Given the description of an element on the screen output the (x, y) to click on. 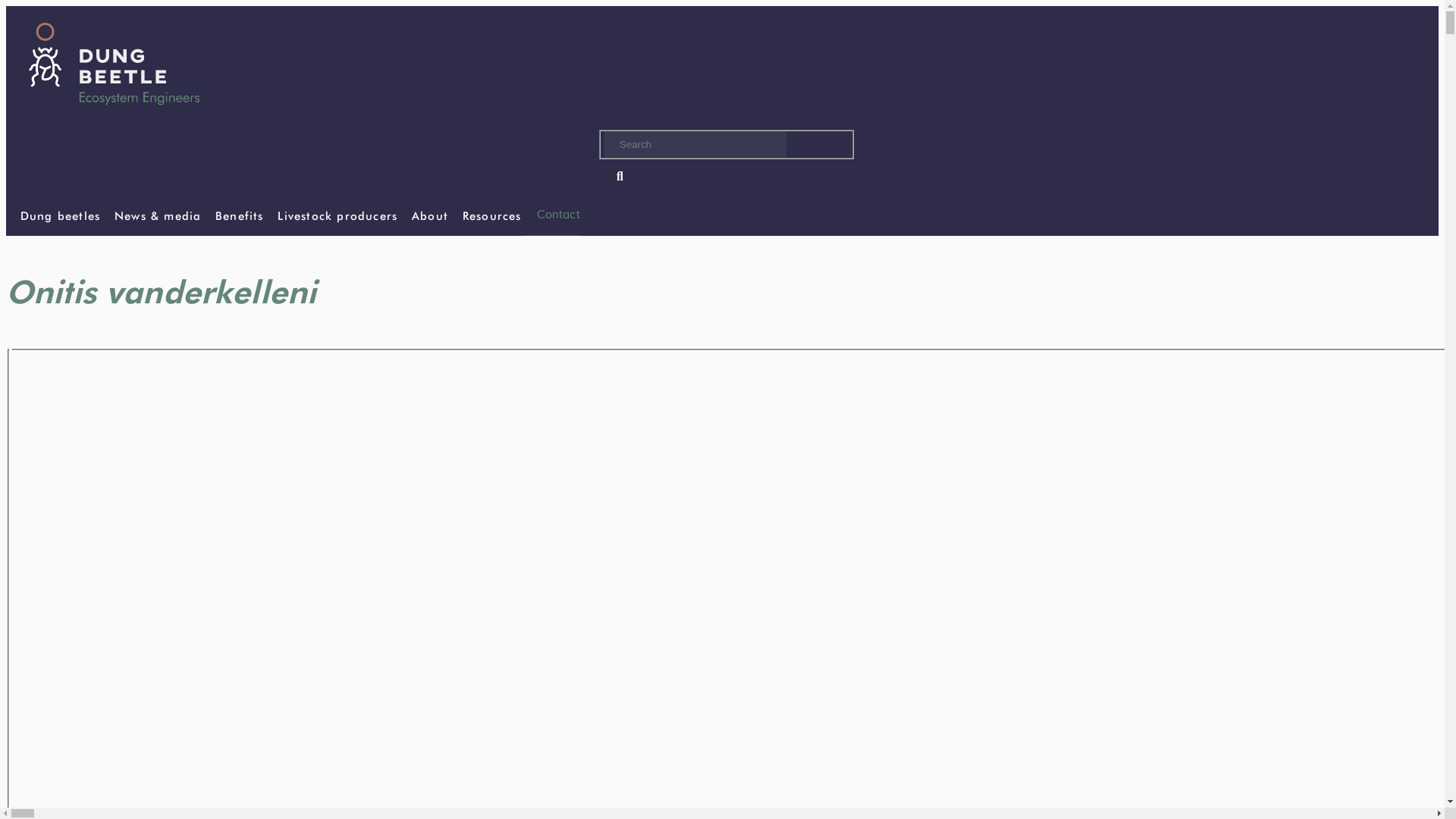
Menu Element type: text (15, 15)
Home Element type: hover (114, 118)
Skip to main content Element type: text (722, 7)
Contact Element type: text (550, 214)
